Given the description of an element on the screen output the (x, y) to click on. 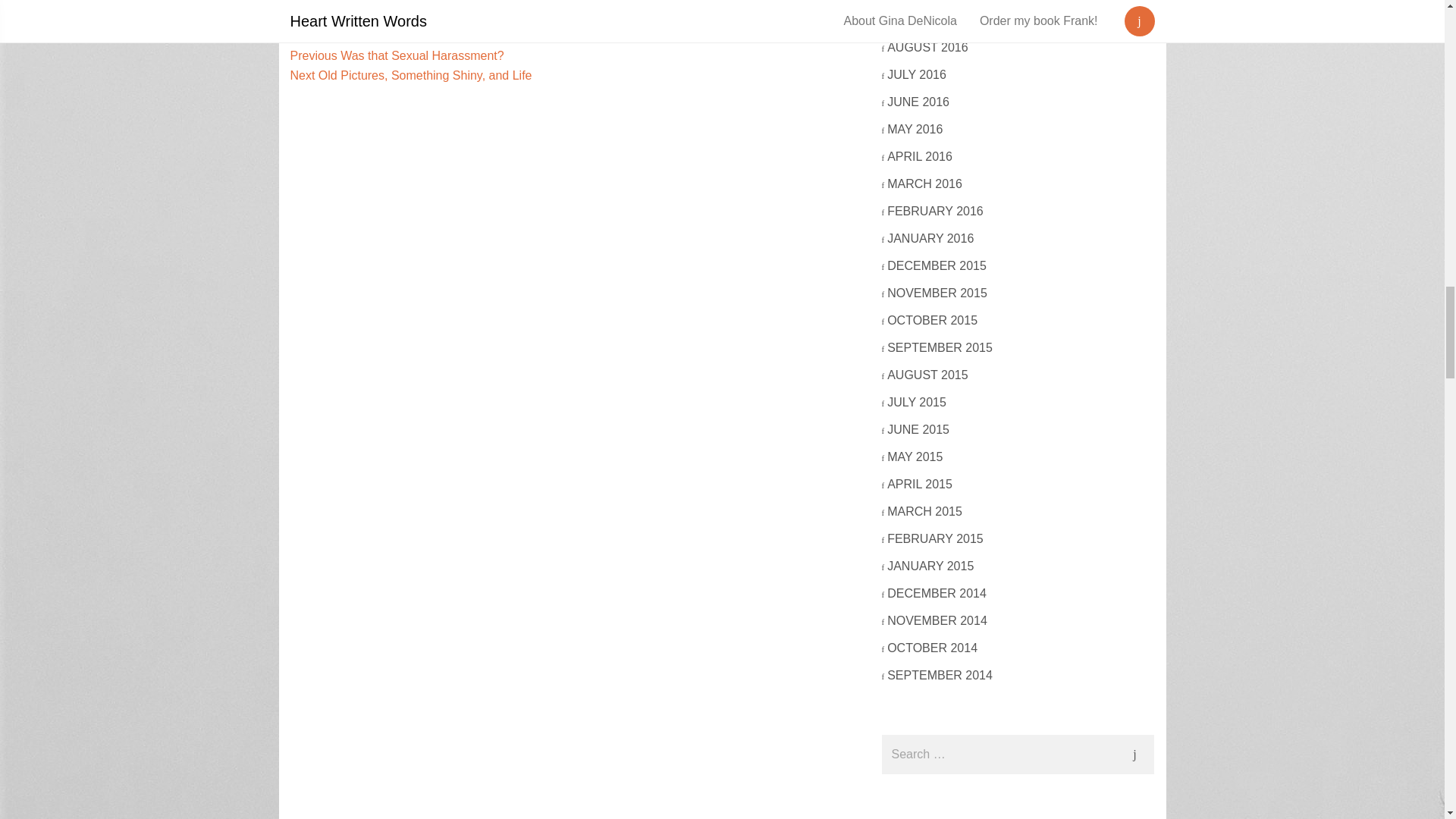
Post Comment (396, 55)
Search (357, 15)
Search (1134, 754)
Post Comment (1134, 754)
